Given the description of an element on the screen output the (x, y) to click on. 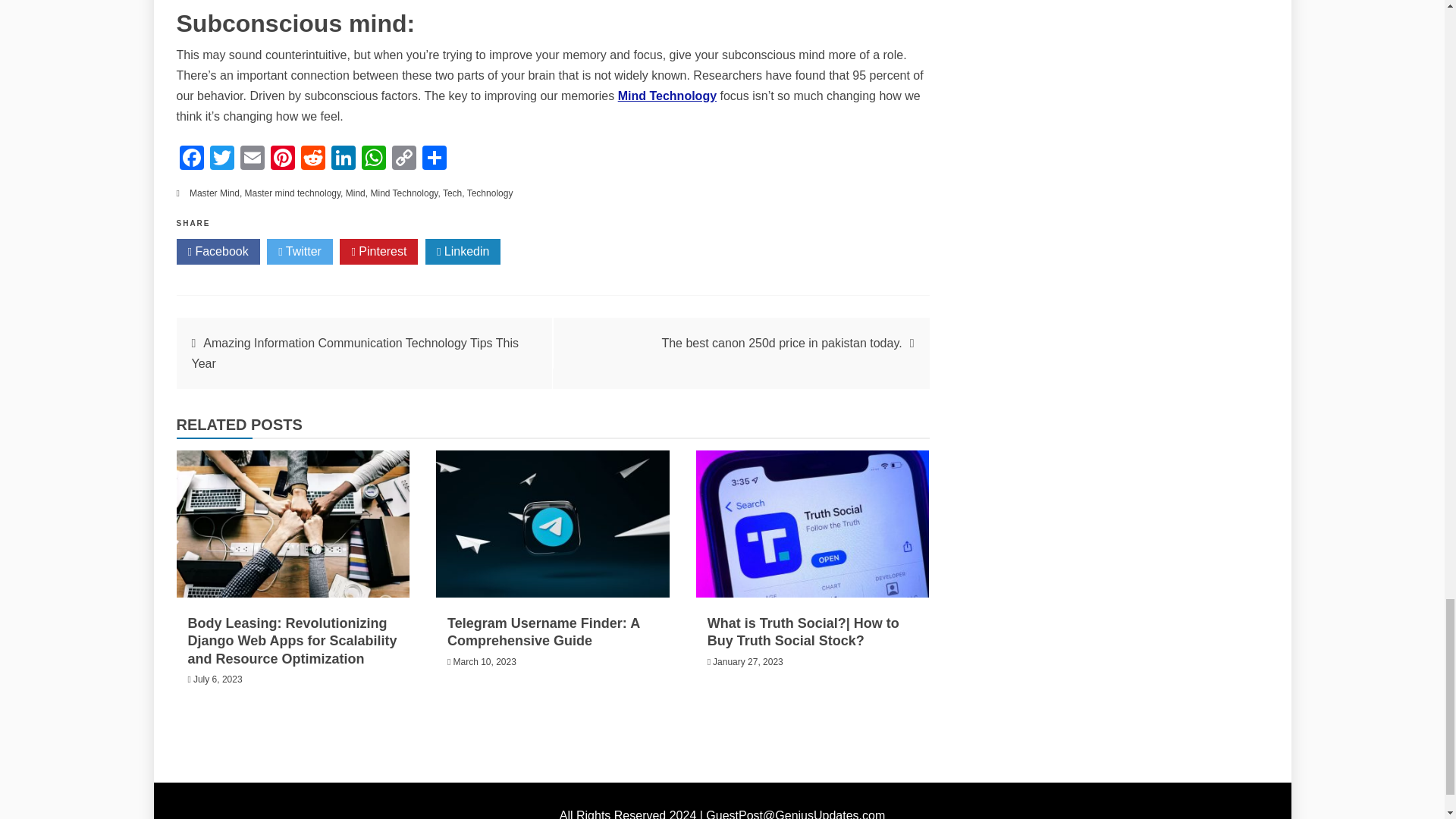
Facebook (191, 159)
Mind Technology (666, 95)
